Given the description of an element on the screen output the (x, y) to click on. 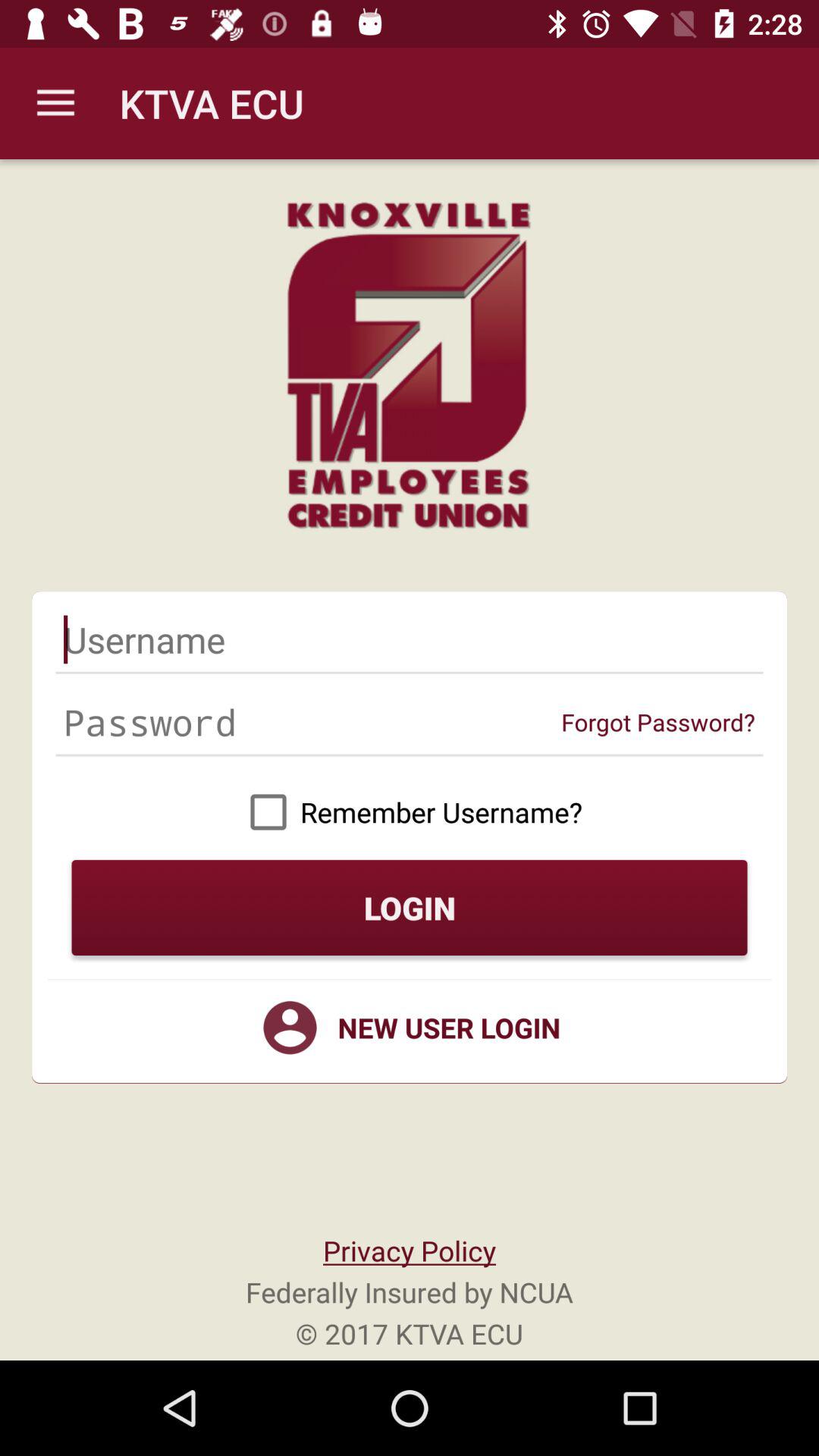
flip until the forgot password? item (658, 721)
